Given the description of an element on the screen output the (x, y) to click on. 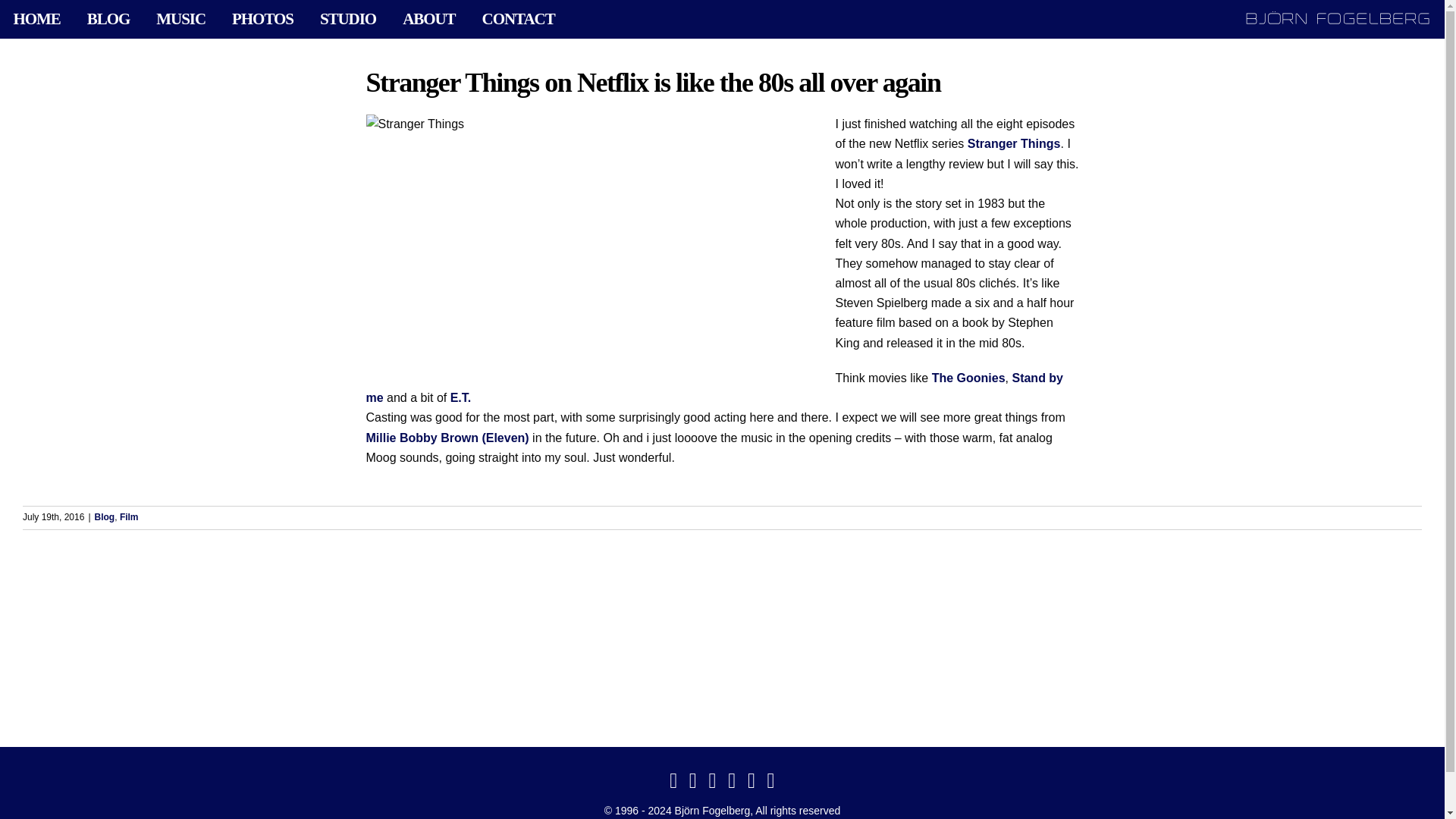
STUDIO (346, 19)
BLOG (108, 19)
E.T. (460, 397)
HOME (37, 19)
Stranger Things (1014, 143)
MUSIC (180, 19)
Stand by me (713, 387)
Blog (104, 516)
PHOTOS (263, 19)
Film (128, 516)
ABOUT (429, 19)
CONTACT (517, 19)
The Goonies (968, 377)
